Given the description of an element on the screen output the (x, y) to click on. 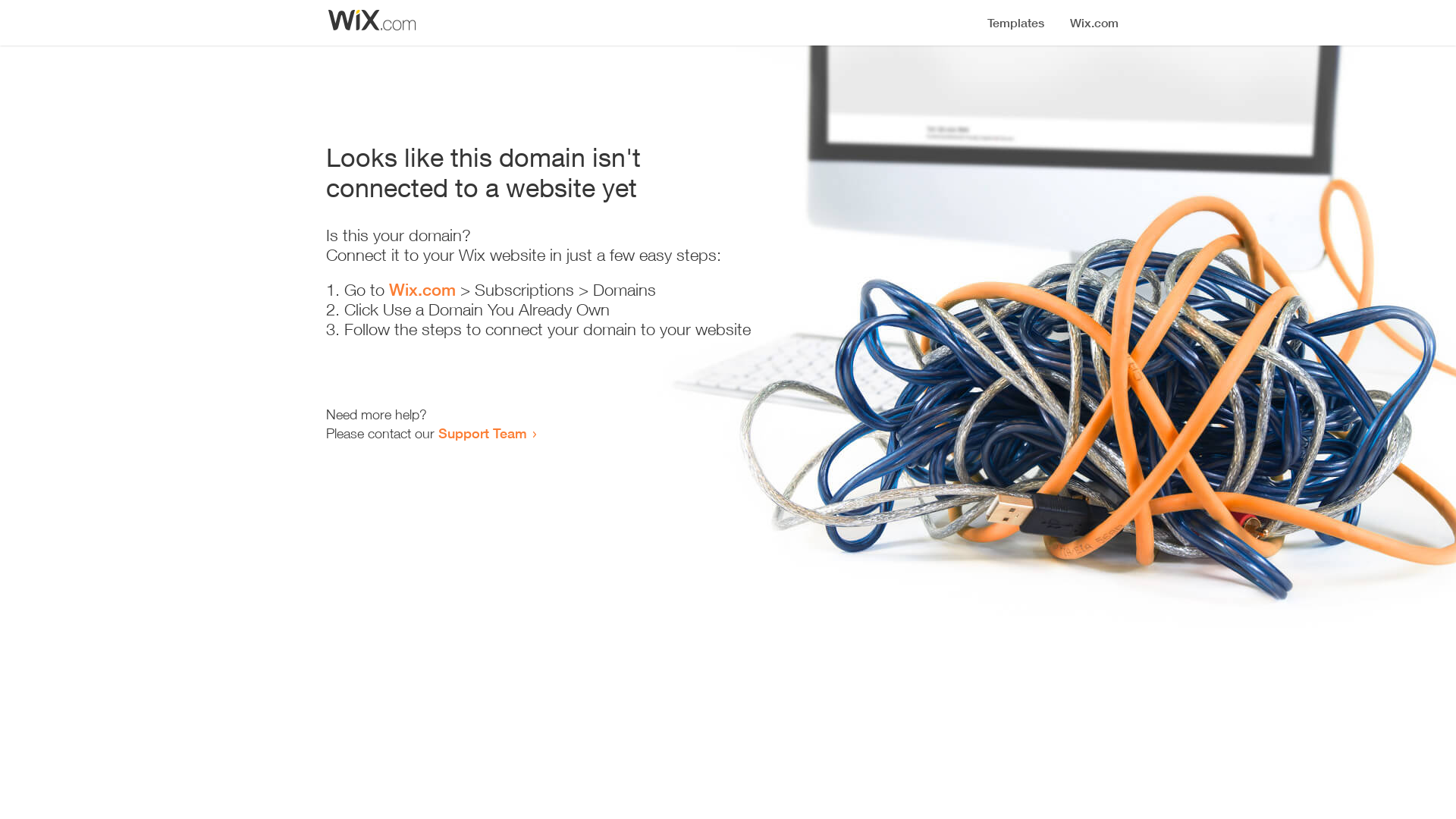
Support Team Element type: text (482, 432)
Wix.com Element type: text (422, 289)
